Given the description of an element on the screen output the (x, y) to click on. 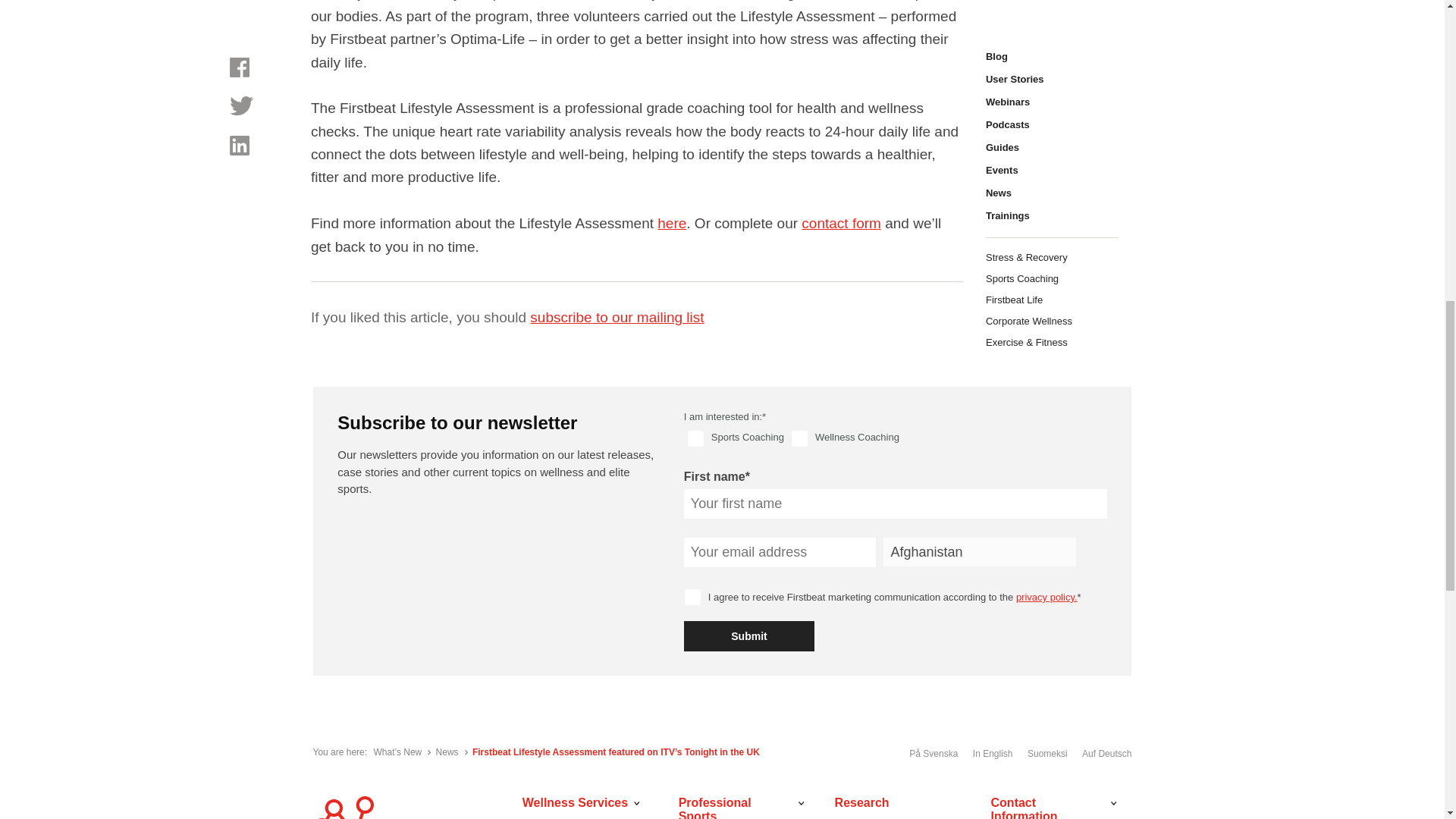
Submit (748, 635)
